Given the description of an element on the screen output the (x, y) to click on. 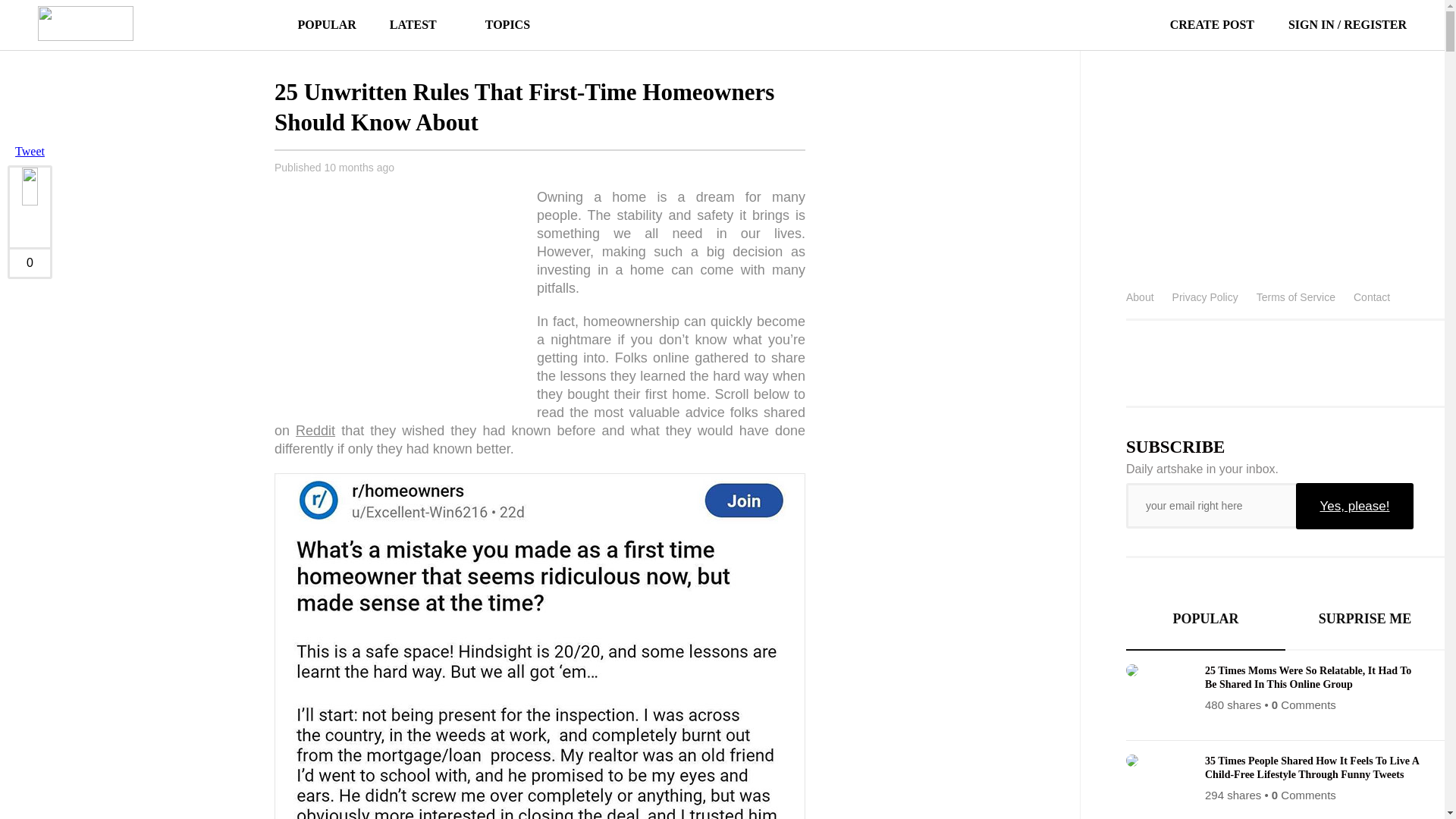
TOPICS (499, 24)
LATEST (413, 24)
CREATE POST (1194, 24)
POPULAR (326, 24)
